Given the description of an element on the screen output the (x, y) to click on. 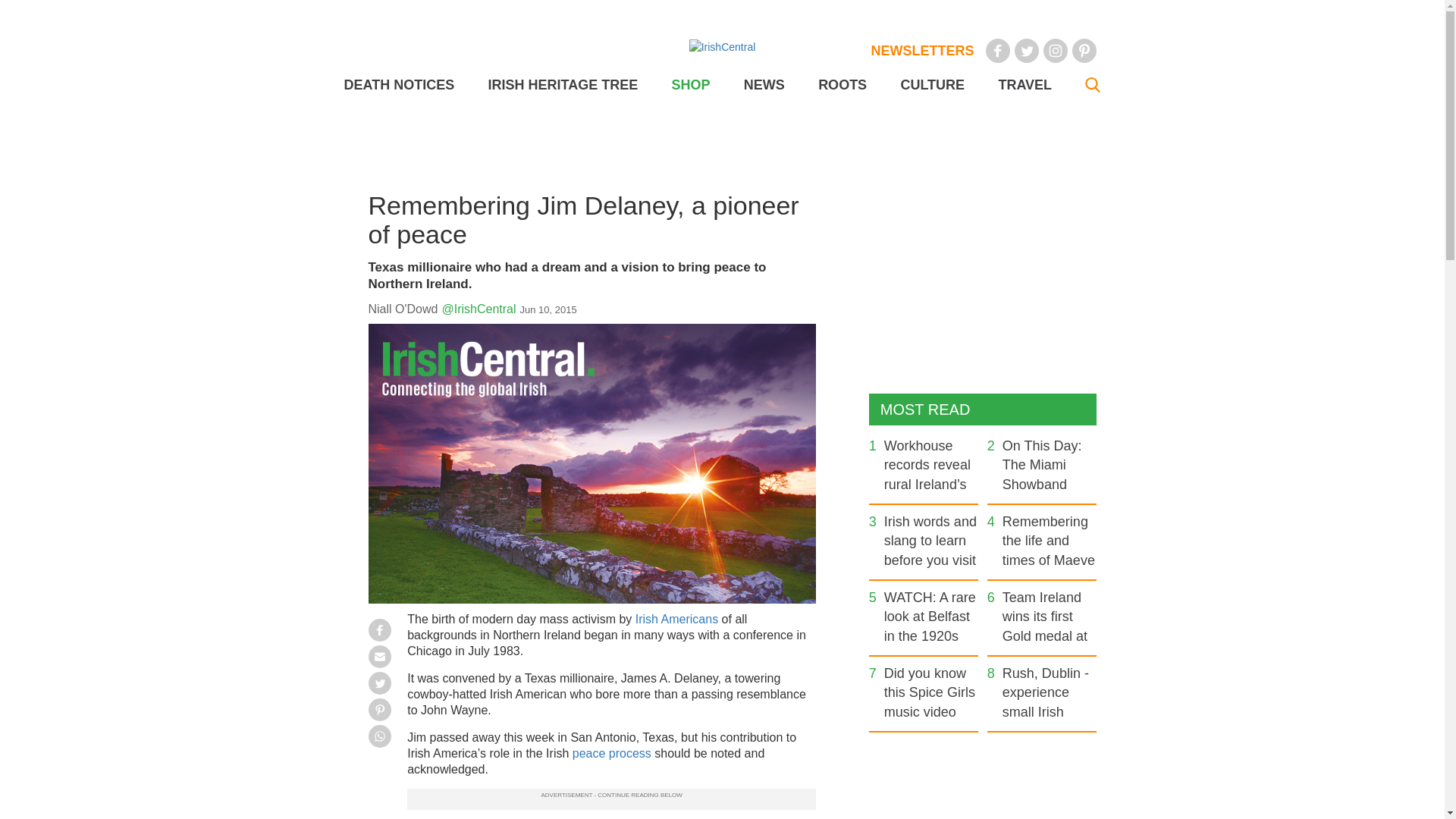
SHOP (690, 84)
ROOTS (842, 84)
IRISH HERITAGE TREE (562, 84)
TRAVEL (1024, 84)
CULTURE (931, 84)
NEWSLETTERS (922, 50)
DEATH NOTICES (398, 84)
NEWS (764, 84)
